Given the description of an element on the screen output the (x, y) to click on. 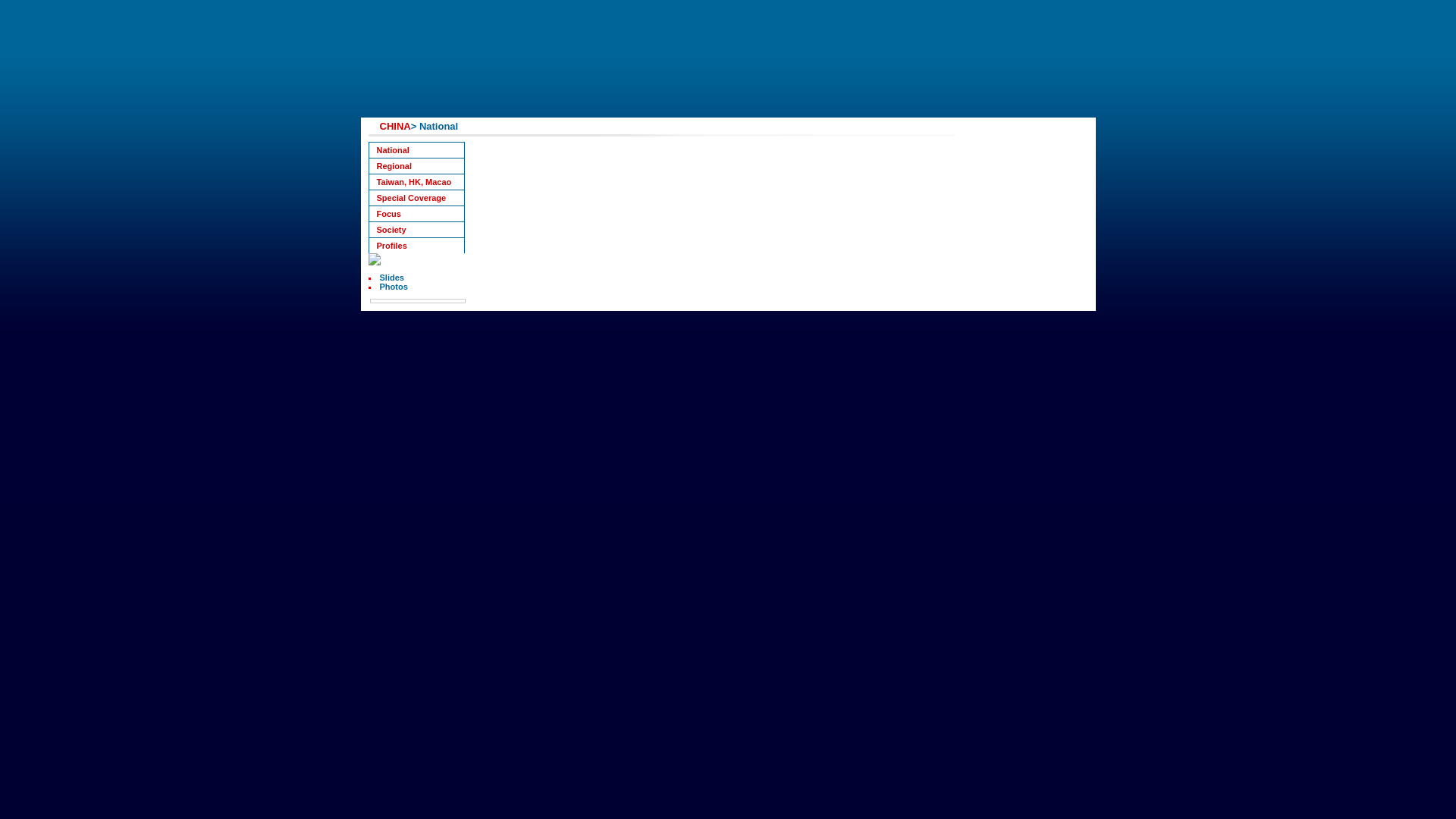
CHINA (394, 125)
Focus (416, 213)
Taiwan, HK, Macao (416, 181)
Society (416, 229)
Special Coverage (416, 197)
Slides (390, 276)
Profiles (416, 245)
Regional (416, 165)
Photos (392, 286)
National (416, 149)
